Given the description of an element on the screen output the (x, y) to click on. 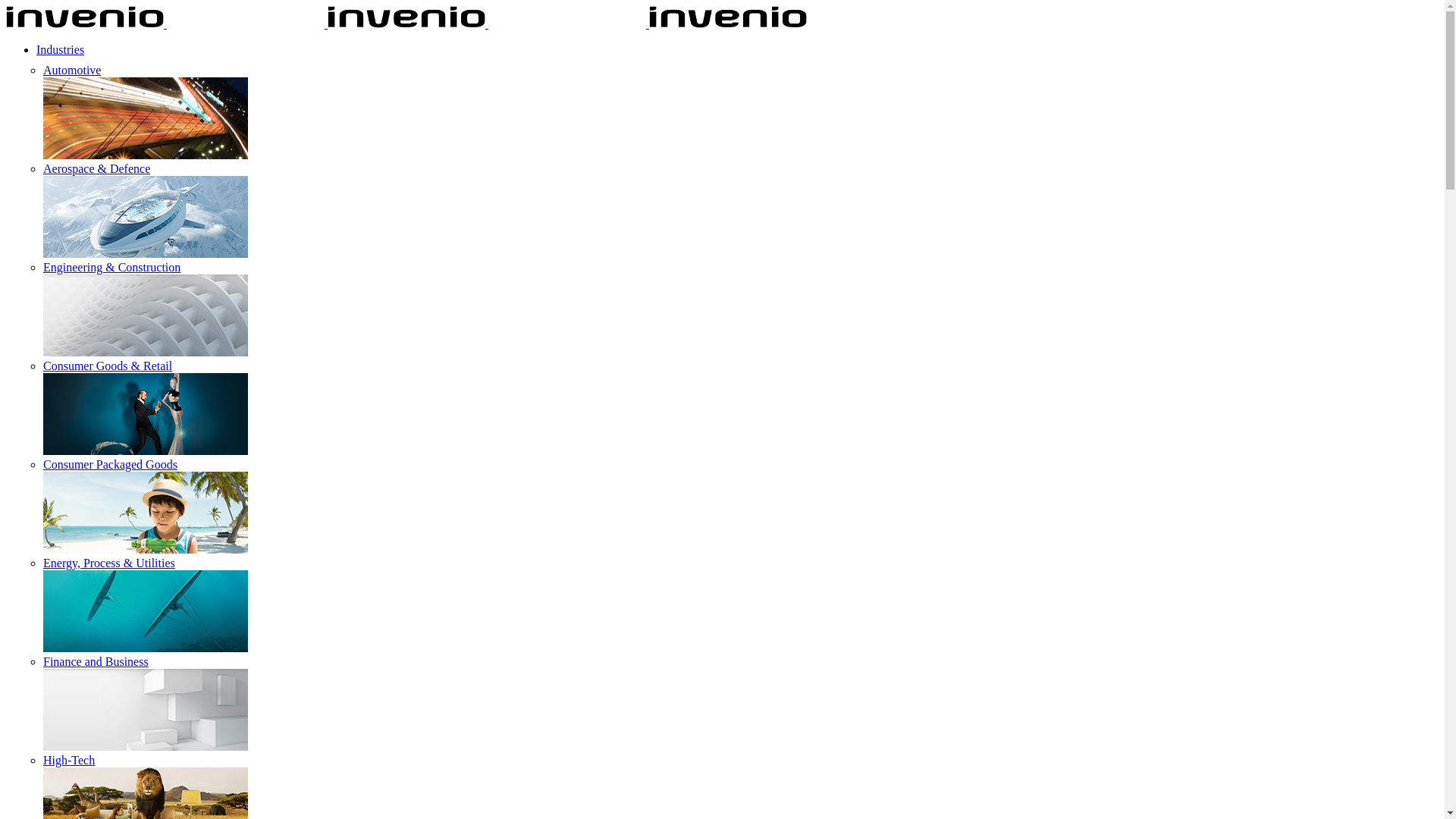
Consumer Goods & Retail Element type: text (107, 365)
Consumer Packaged Goods Element type: text (110, 464)
Engineering & Construction Element type: text (111, 266)
Consumer Packaged Goods & Retail Industry Sector Element type: hover (145, 512)
Automotive Element type: text (71, 69)
Aerospace & Defence Element type: hover (145, 216)
Architecture Engineering Construction Industry Sector Element type: hover (145, 315)
Automotive Element type: hover (145, 118)
Aerospace & Defence Element type: text (96, 168)
Consumer Goods & Retail Industry Sector Element type: hover (145, 414)
Finance and Business Element type: text (95, 661)
Financial & Business Services Industry Sector Element type: hover (145, 709)
Energy, Process & Utilities Industry Sector Element type: hover (145, 611)
Industries Element type: text (60, 49)
High-Tech Element type: text (68, 759)
Energy, Process & Utilities Element type: text (109, 562)
